Given the description of an element on the screen output the (x, y) to click on. 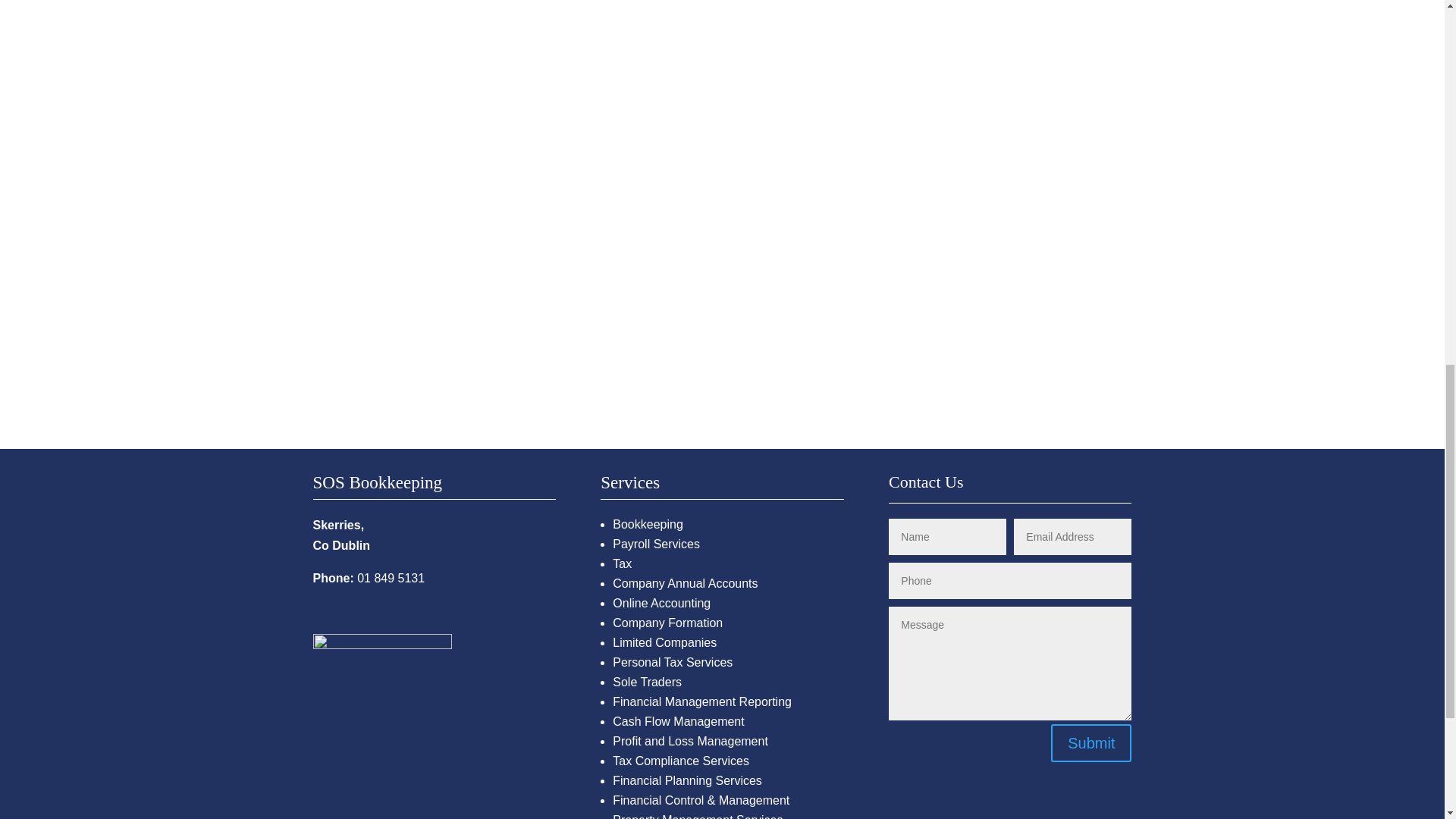
Bookkeeping (647, 523)
Company Annual Accounts (684, 583)
01 849 5131 (390, 577)
Online Accounting (661, 603)
Submit (1091, 742)
Payroll Services (656, 543)
Tax (621, 563)
